Given the description of an element on the screen output the (x, y) to click on. 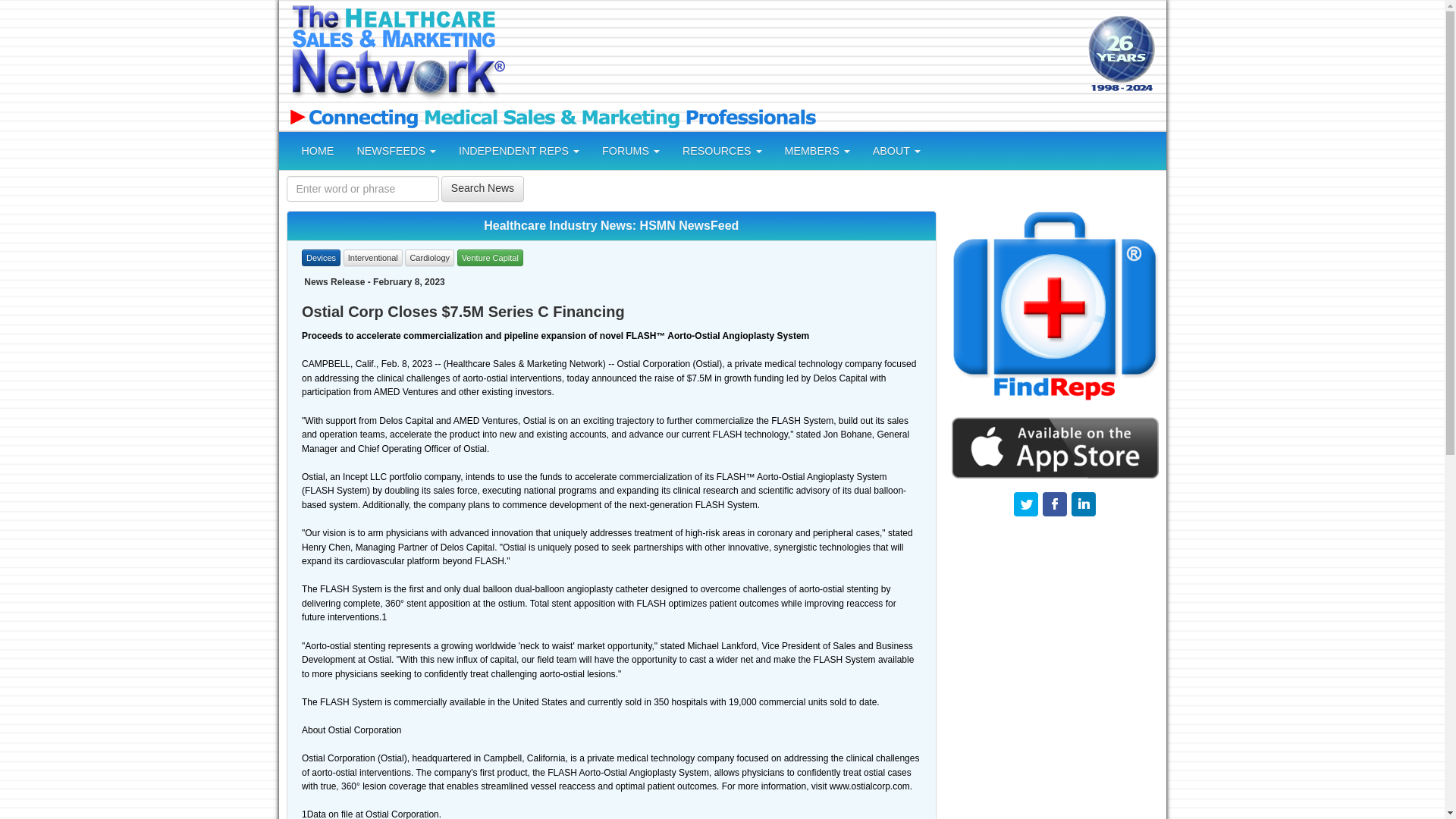
RESOURCES  (722, 150)
INDEPENDENT REPS  (518, 150)
HOME (317, 150)
Search News (482, 188)
Advertisement (794, 55)
NEWSFEEDS  (395, 150)
FORUMS  (631, 150)
